Given the description of an element on the screen output the (x, y) to click on. 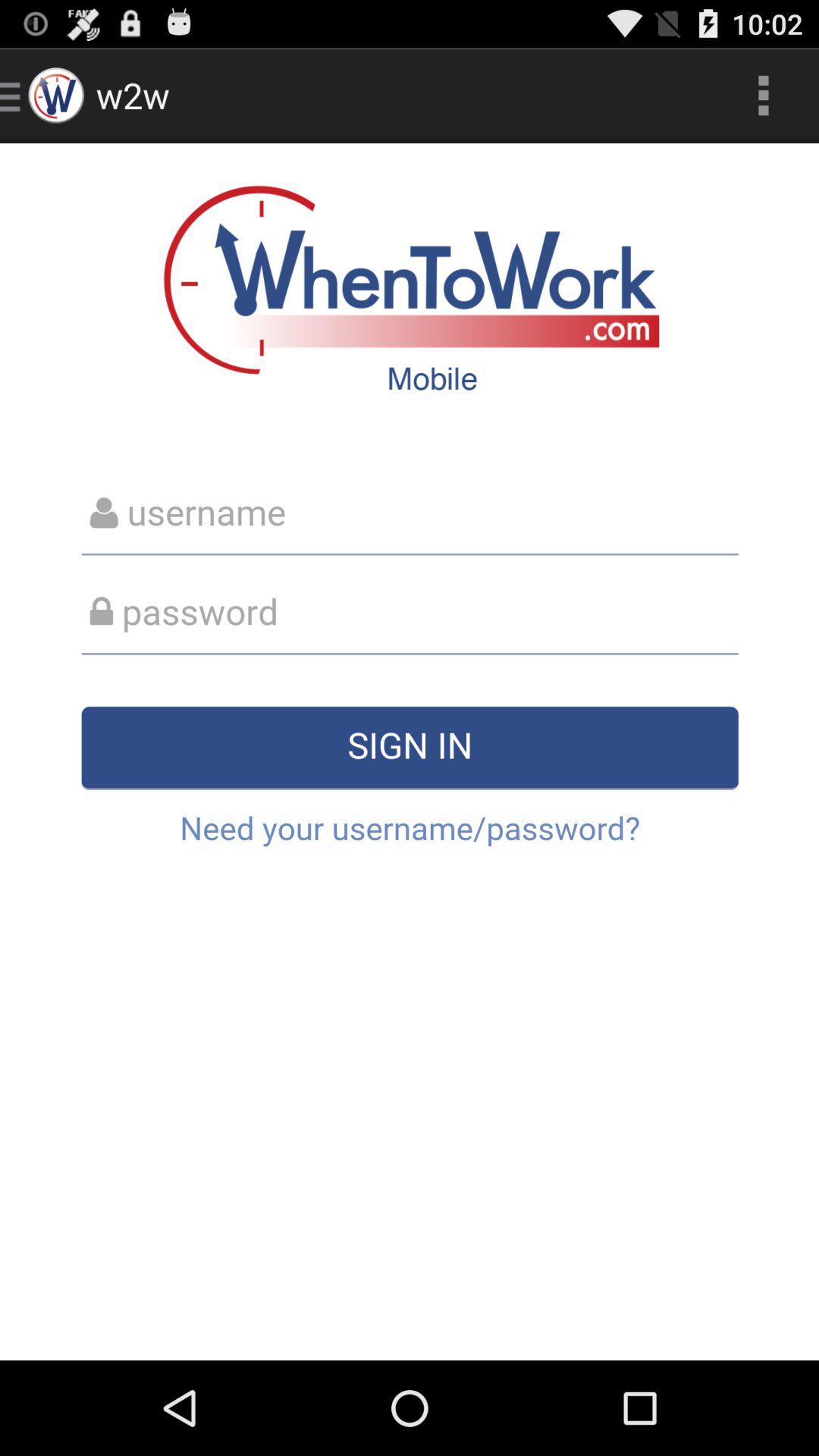
login (409, 751)
